Given the description of an element on the screen output the (x, y) to click on. 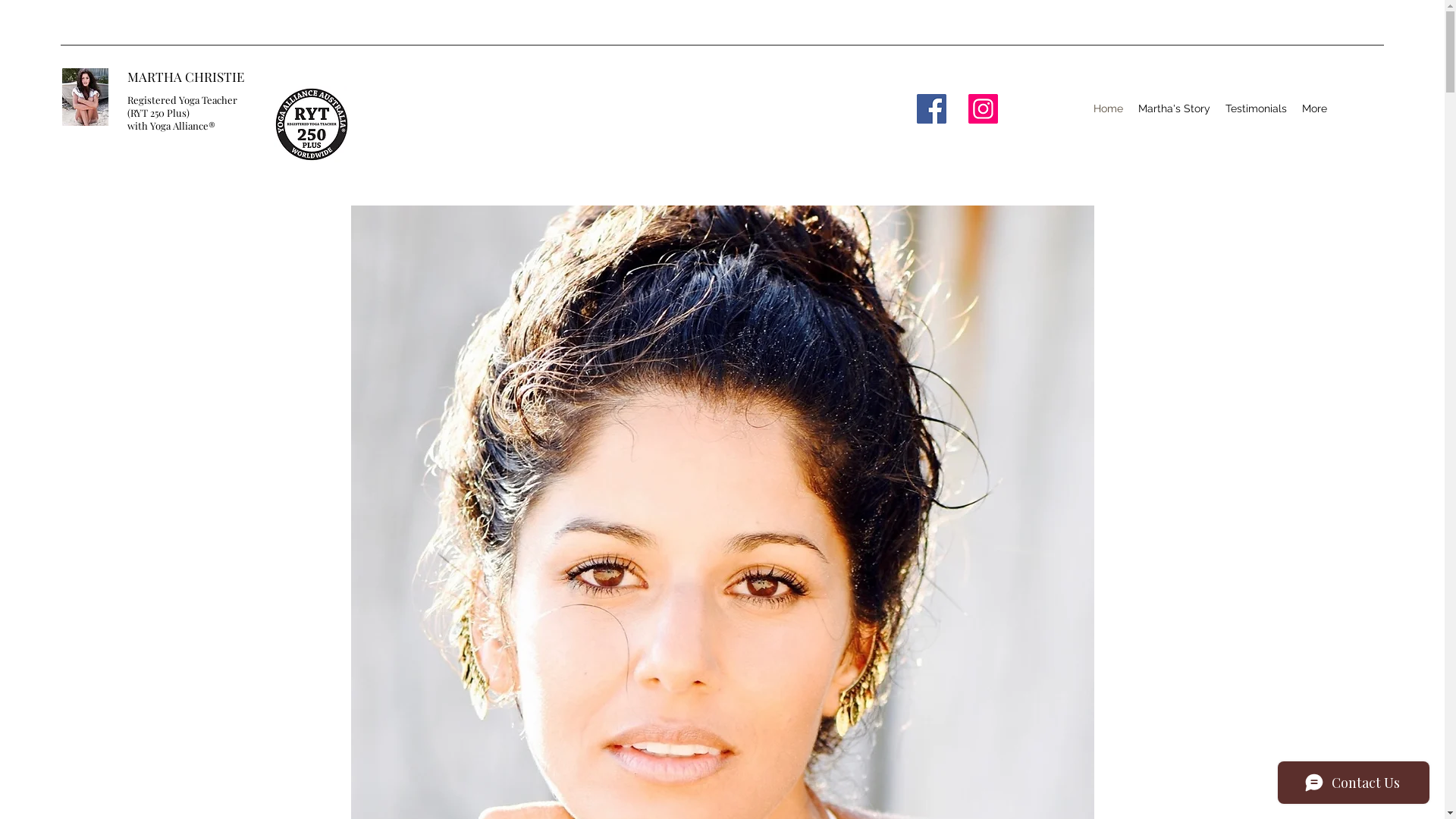
Home Element type: text (1107, 108)
Testimonials Element type: text (1255, 108)
Martha's Story Element type: text (1173, 108)
MARTHA CHRISTIE Element type: text (185, 76)
